Given the description of an element on the screen output the (x, y) to click on. 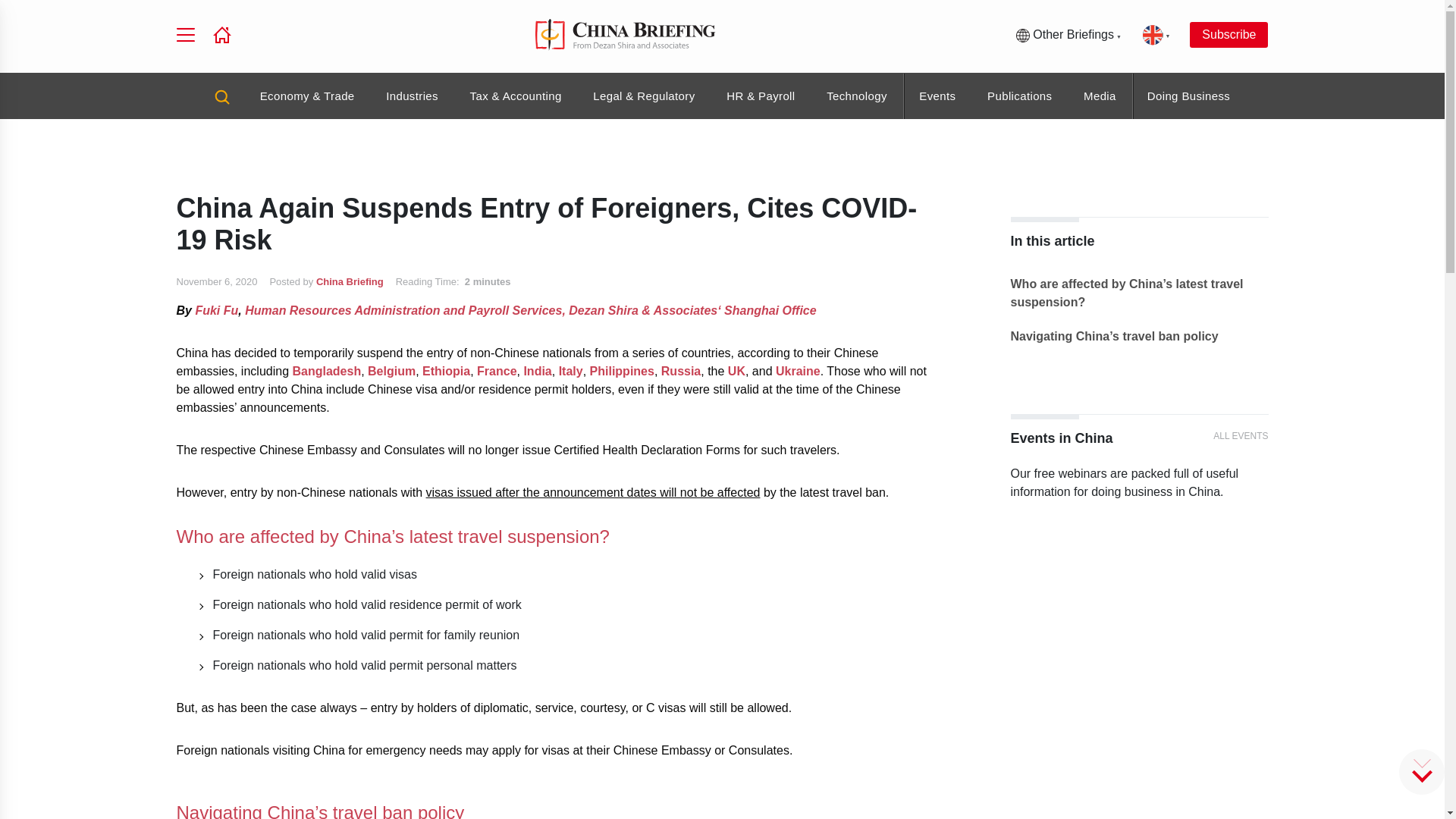
Subscribe (1228, 34)
View all posts by China Briefing (349, 281)
Technology (856, 95)
Industries (411, 95)
